Given the description of an element on the screen output the (x, y) to click on. 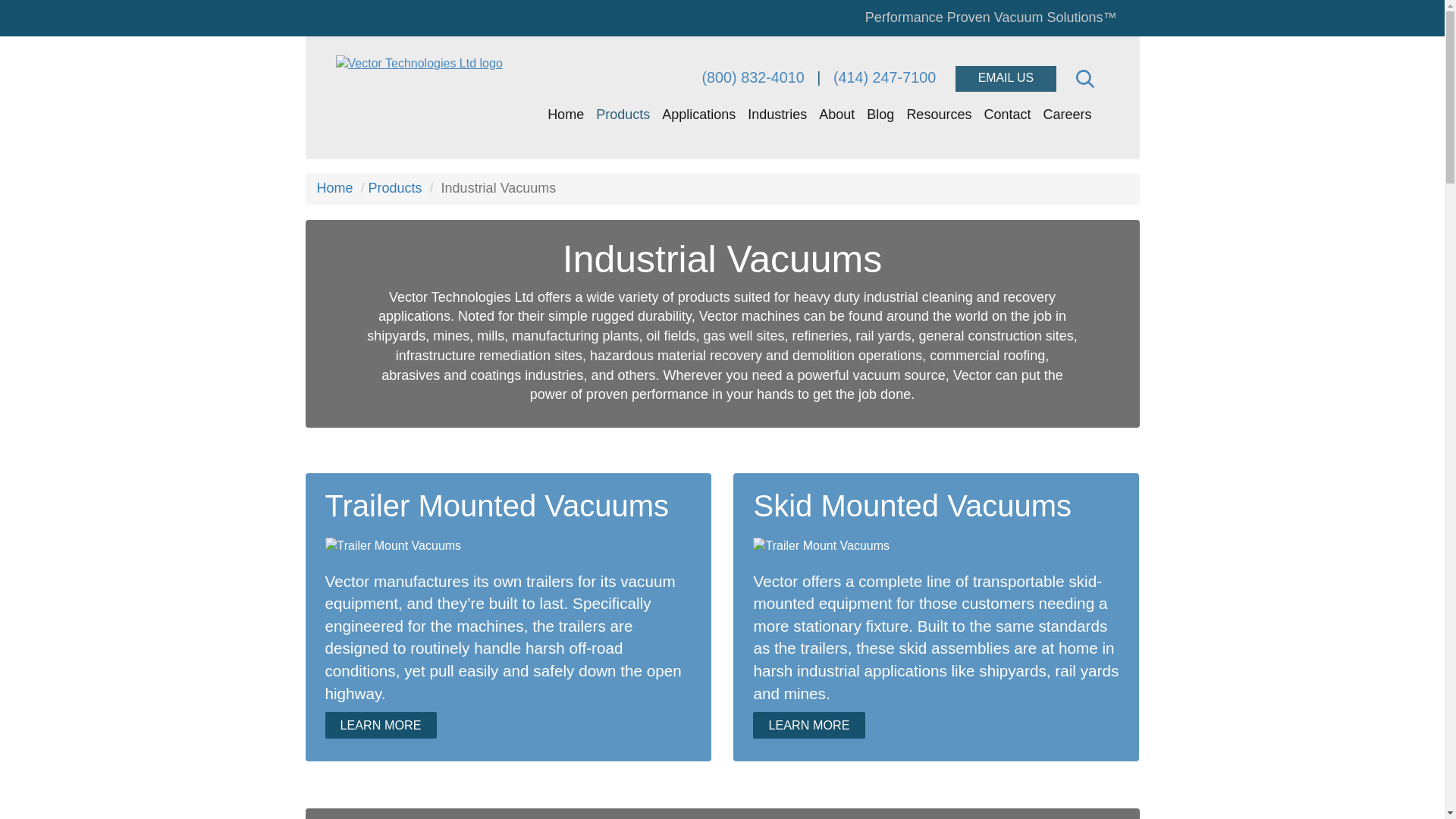
LEARN MORE (808, 724)
Contact (1006, 114)
Applications (698, 114)
Resources (937, 114)
LEARN MORE (379, 724)
About (836, 114)
Trailer Mount Vacuums (820, 546)
Industries (776, 114)
Products (395, 187)
Vector Technologies Ltd logo (419, 63)
